Given the description of an element on the screen output the (x, y) to click on. 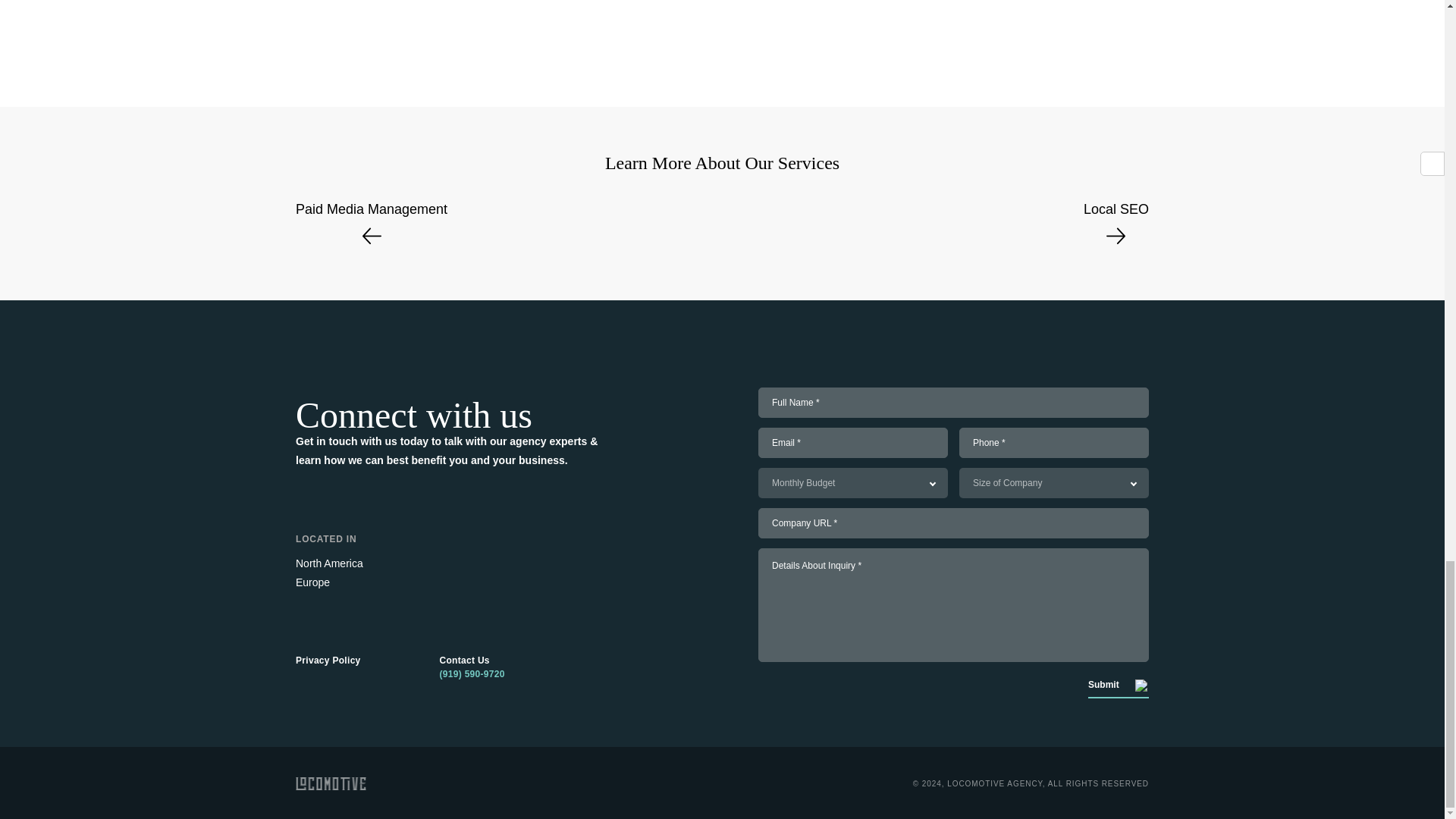
Local SEO (1115, 227)
Submit (1117, 687)
Privacy Policy (328, 660)
Locomotive Agency (330, 783)
Paid Media Management (370, 227)
